Given the description of an element on the screen output the (x, y) to click on. 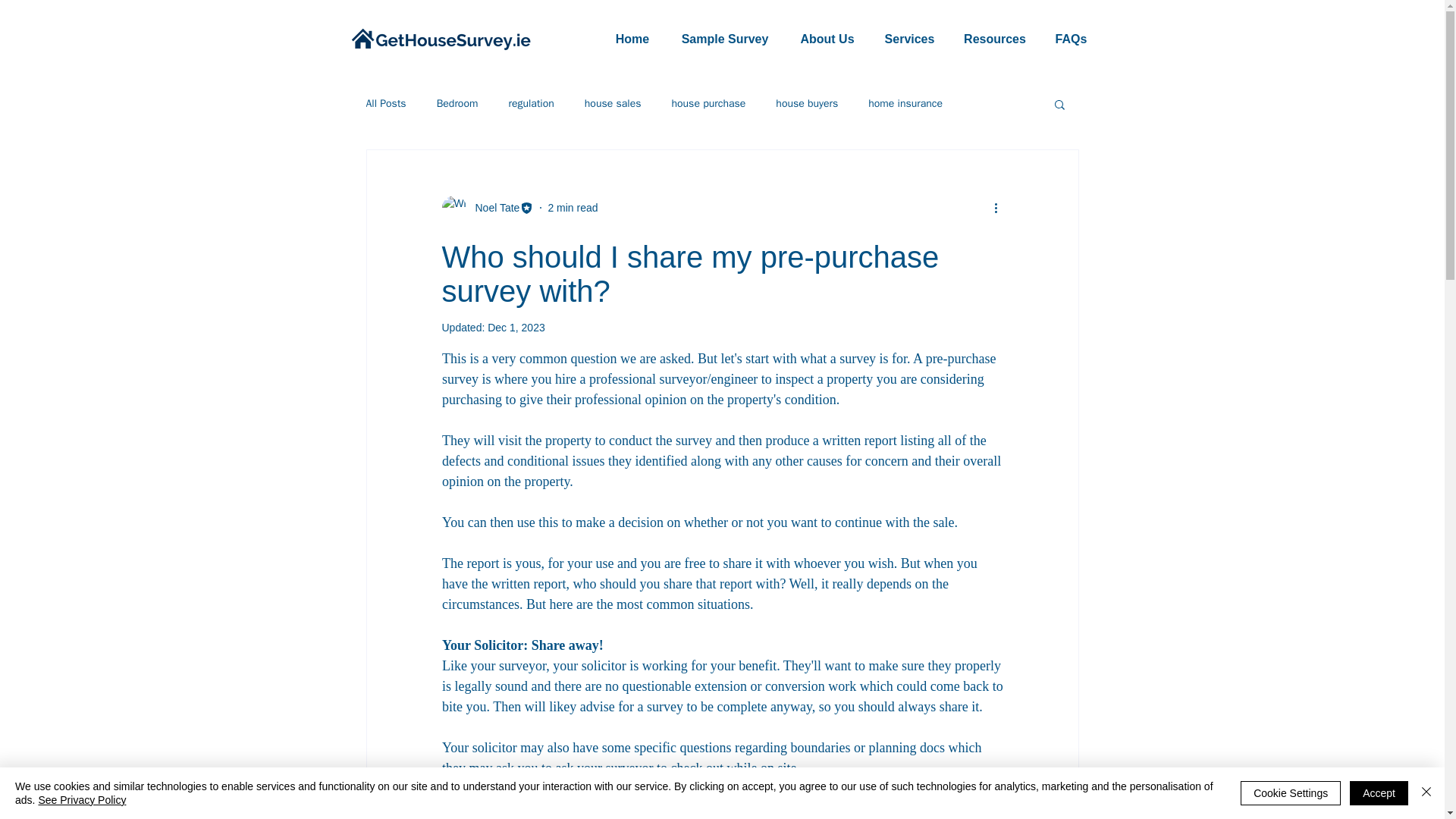
Bedroom (457, 103)
Sample Survey (724, 38)
Home (631, 38)
house buyers (807, 103)
home insurance (904, 103)
Noel Tate (487, 207)
About Us (826, 38)
Dec 1, 2023 (515, 327)
FAQs (1070, 38)
house sales (613, 103)
2 min read (571, 207)
regulation (530, 103)
All Posts (385, 103)
Noel Tate (492, 207)
house purchase (708, 103)
